Given the description of an element on the screen output the (x, y) to click on. 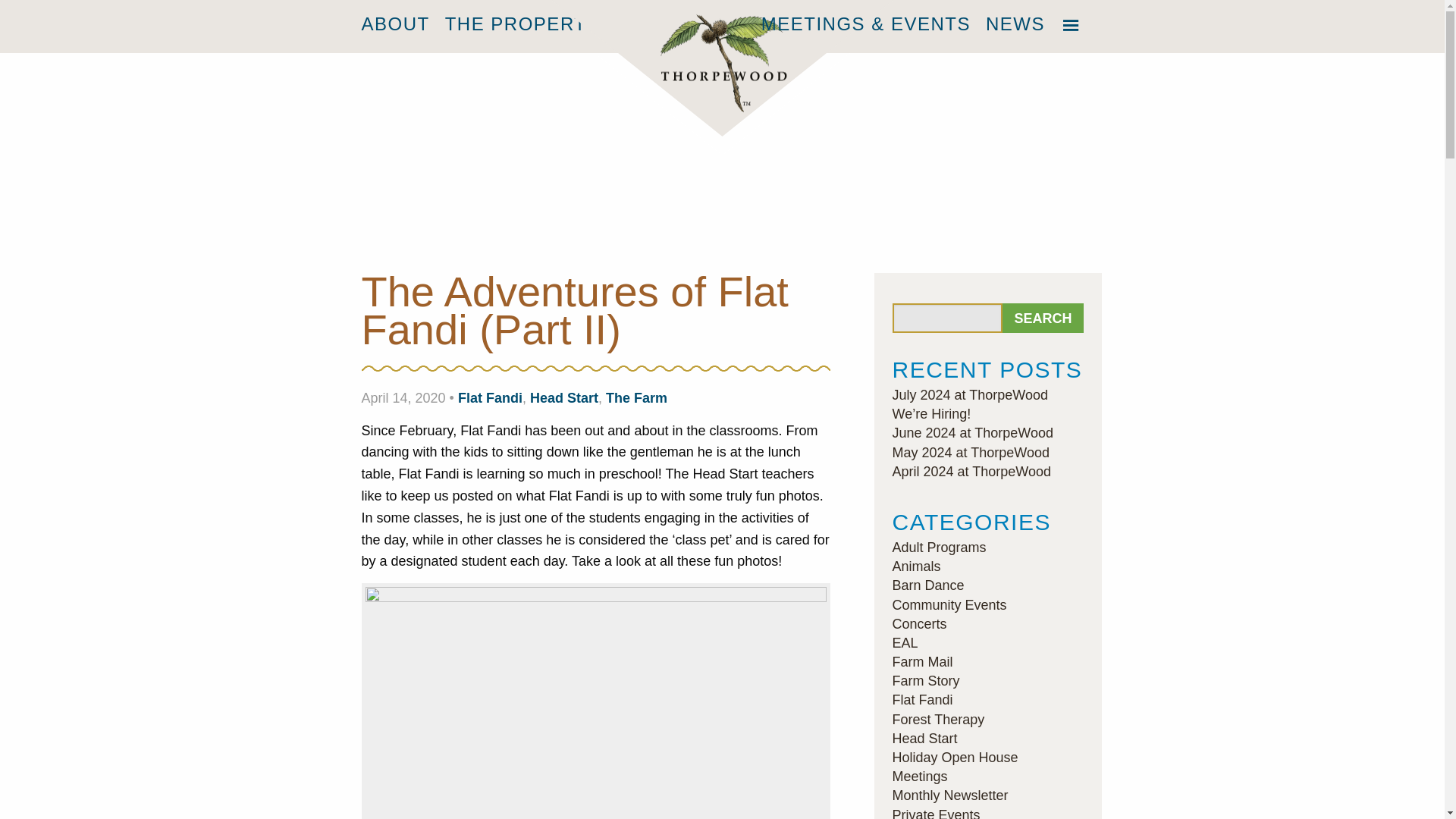
The Farm (635, 397)
Head Start (563, 397)
ABOUT (402, 24)
July 2024 at ThorpeWood (968, 394)
Flat Fandi (490, 397)
SEARCH (1043, 317)
PROGRAMS (679, 24)
May 2024 at ThorpeWood (969, 452)
THE PROPERTY (529, 24)
NEWS (1008, 24)
